Given the description of an element on the screen output the (x, y) to click on. 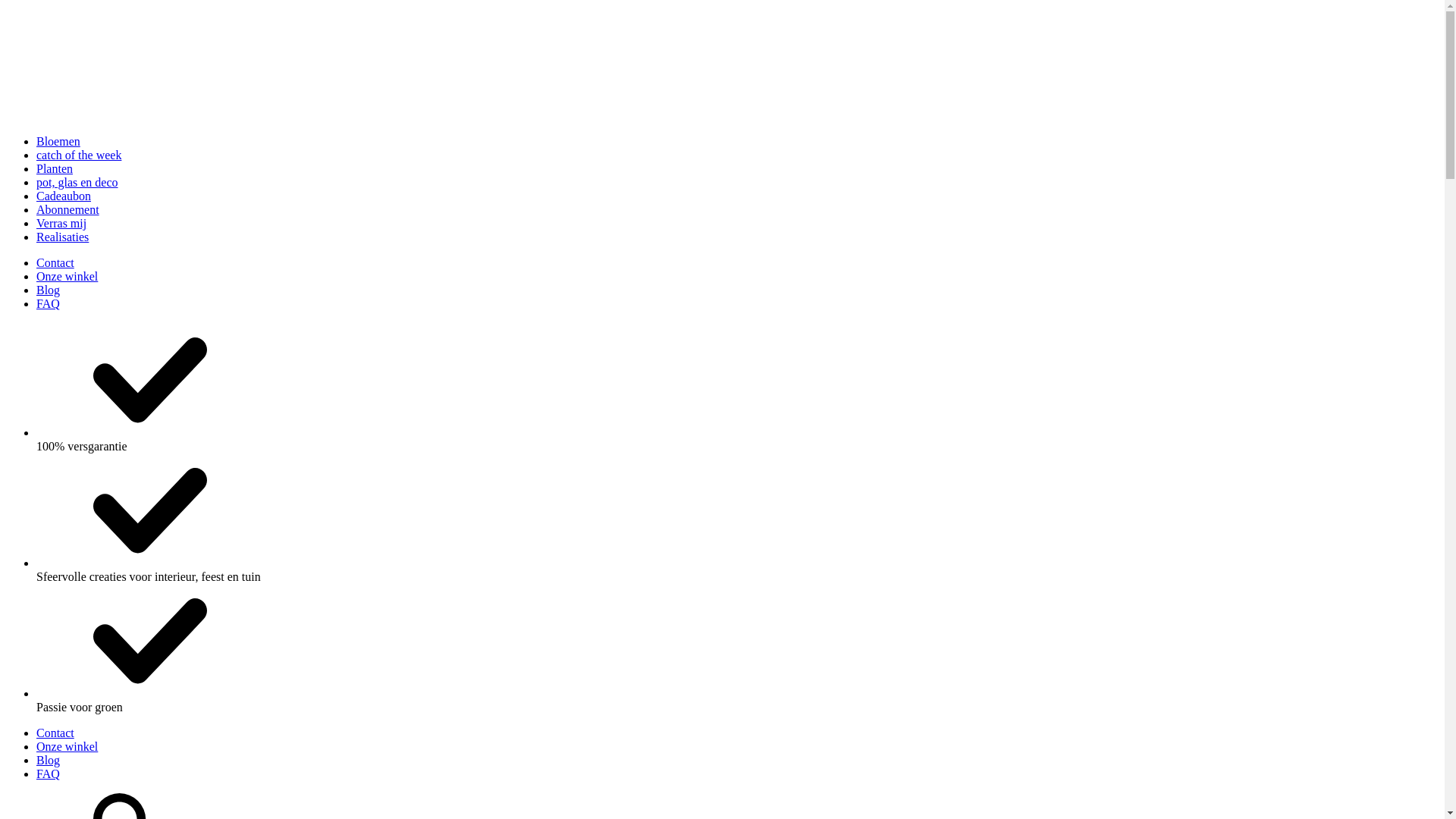
pot, glas en deco Element type: text (77, 181)
Blog Element type: text (47, 759)
FAQ Element type: text (47, 773)
Contact Element type: text (55, 262)
Realisaties Element type: text (62, 236)
catch of the week Element type: text (78, 154)
Contact Element type: text (55, 732)
FAQ Element type: text (47, 303)
Bloemen Element type: text (58, 140)
Onze winkel Element type: text (66, 746)
Blog Element type: text (47, 289)
Cadeaubon Element type: text (63, 195)
Verras mij Element type: text (61, 222)
Onze winkel Element type: text (66, 275)
Planten Element type: text (54, 168)
Abonnement Element type: text (67, 209)
